Given the description of an element on the screen output the (x, y) to click on. 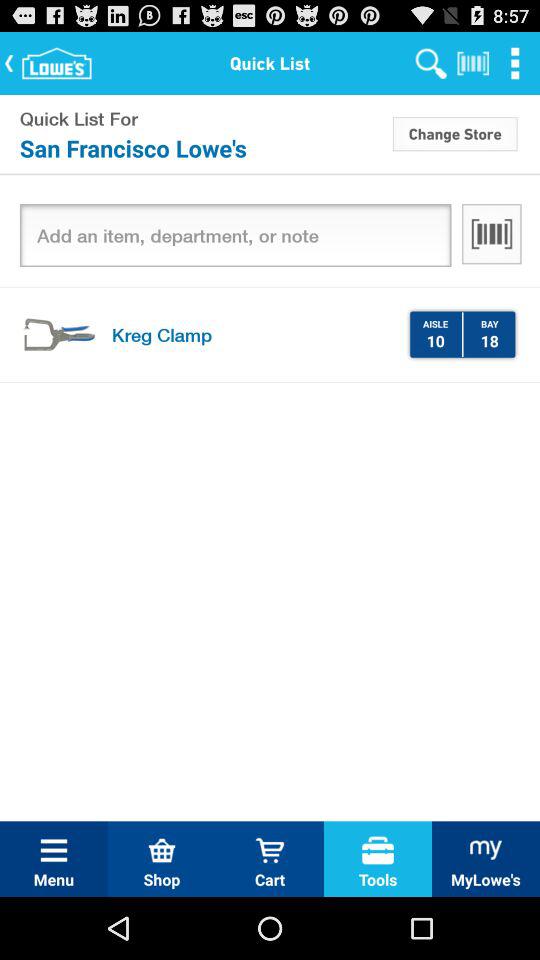
select the icon next to the 18 (462, 333)
